Given the description of an element on the screen output the (x, y) to click on. 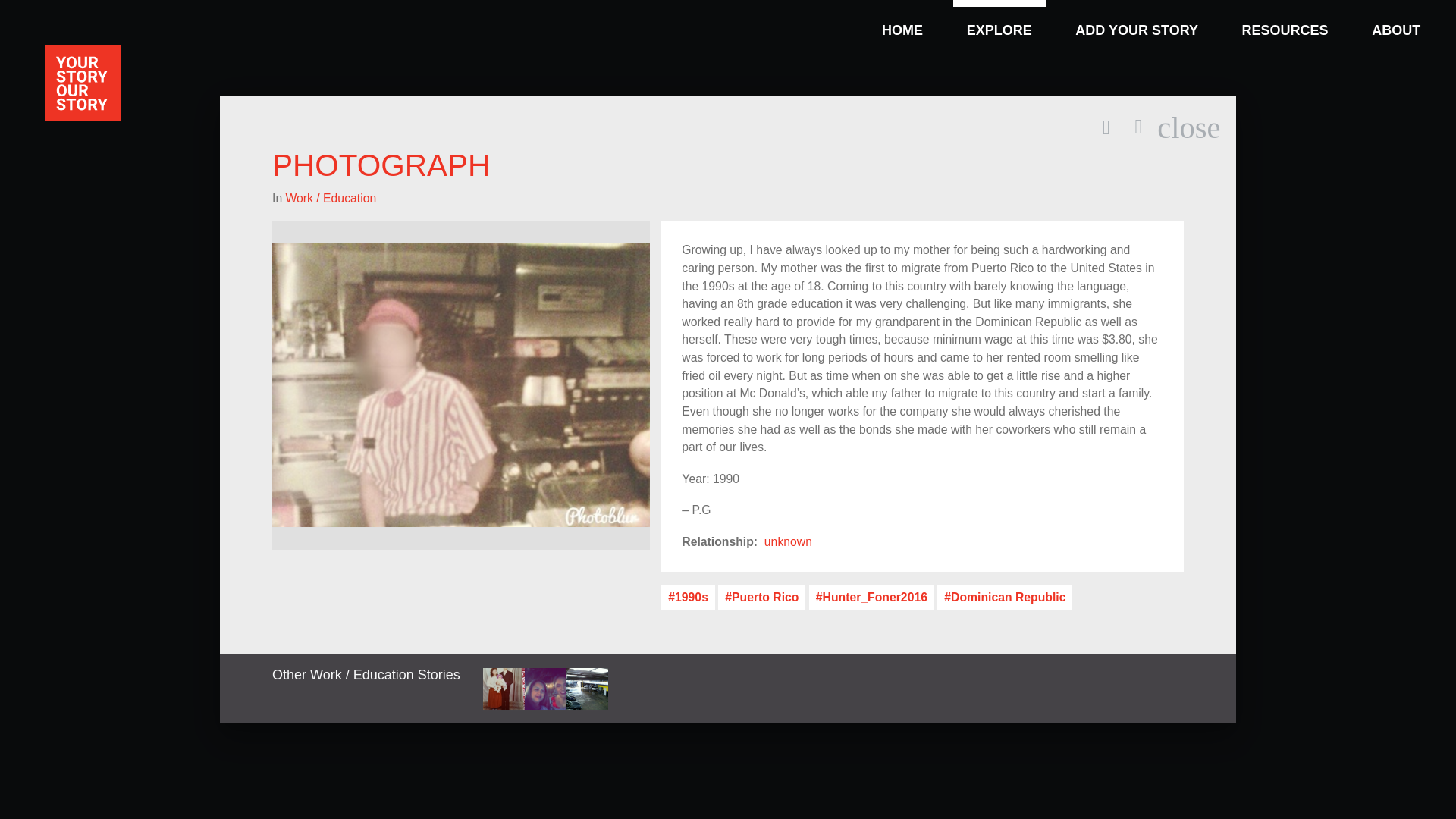
HOME (901, 20)
ADD YOUR STORY (1136, 20)
EXPLORE (999, 20)
Dominican Republic (1004, 597)
Puerto Rico (761, 597)
ABOUT (788, 541)
close (1396, 20)
1990s (1188, 126)
RESOURCES (687, 597)
